Given the description of an element on the screen output the (x, y) to click on. 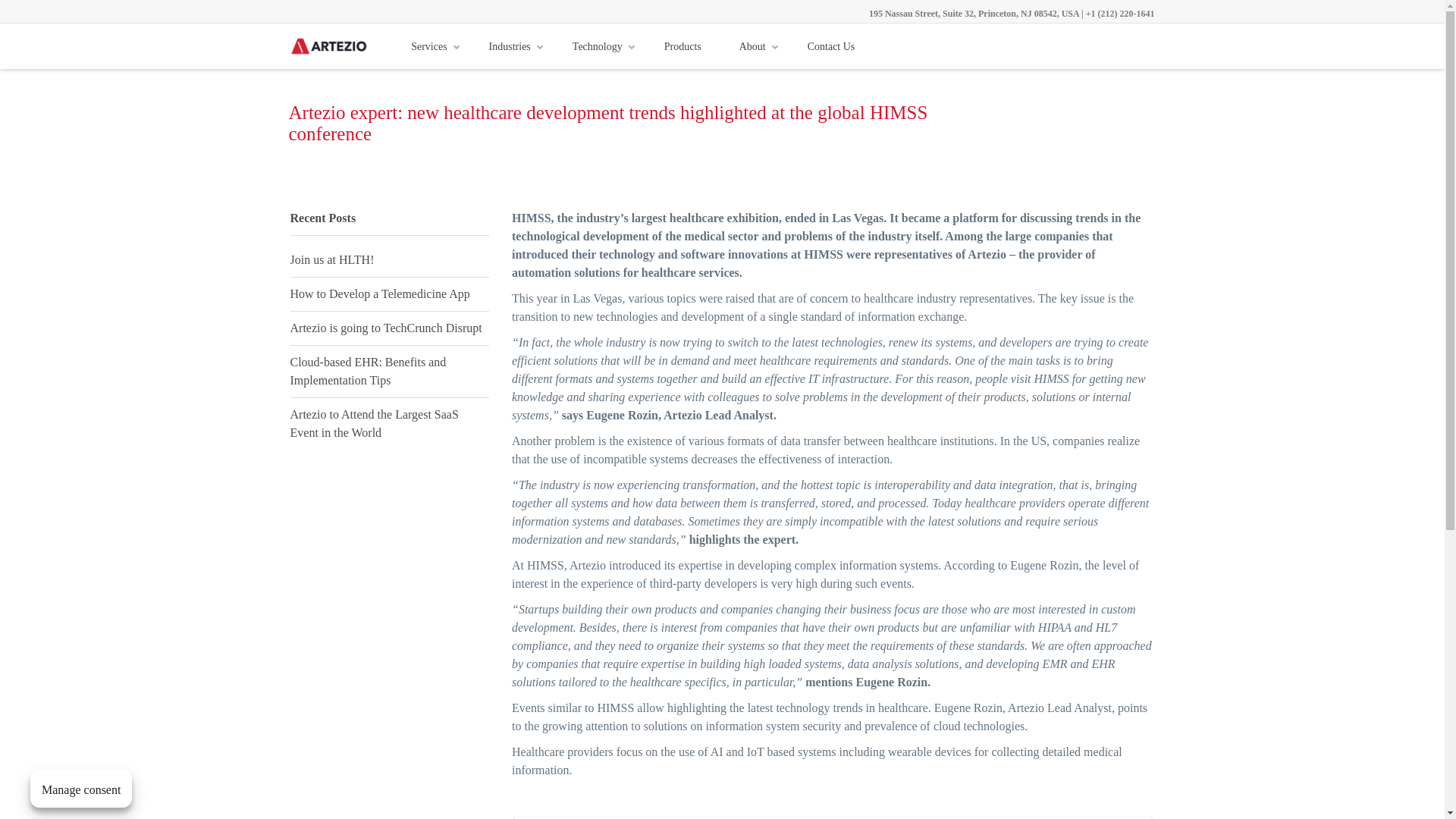
Services (429, 45)
Industries (511, 45)
